Given the description of an element on the screen output the (x, y) to click on. 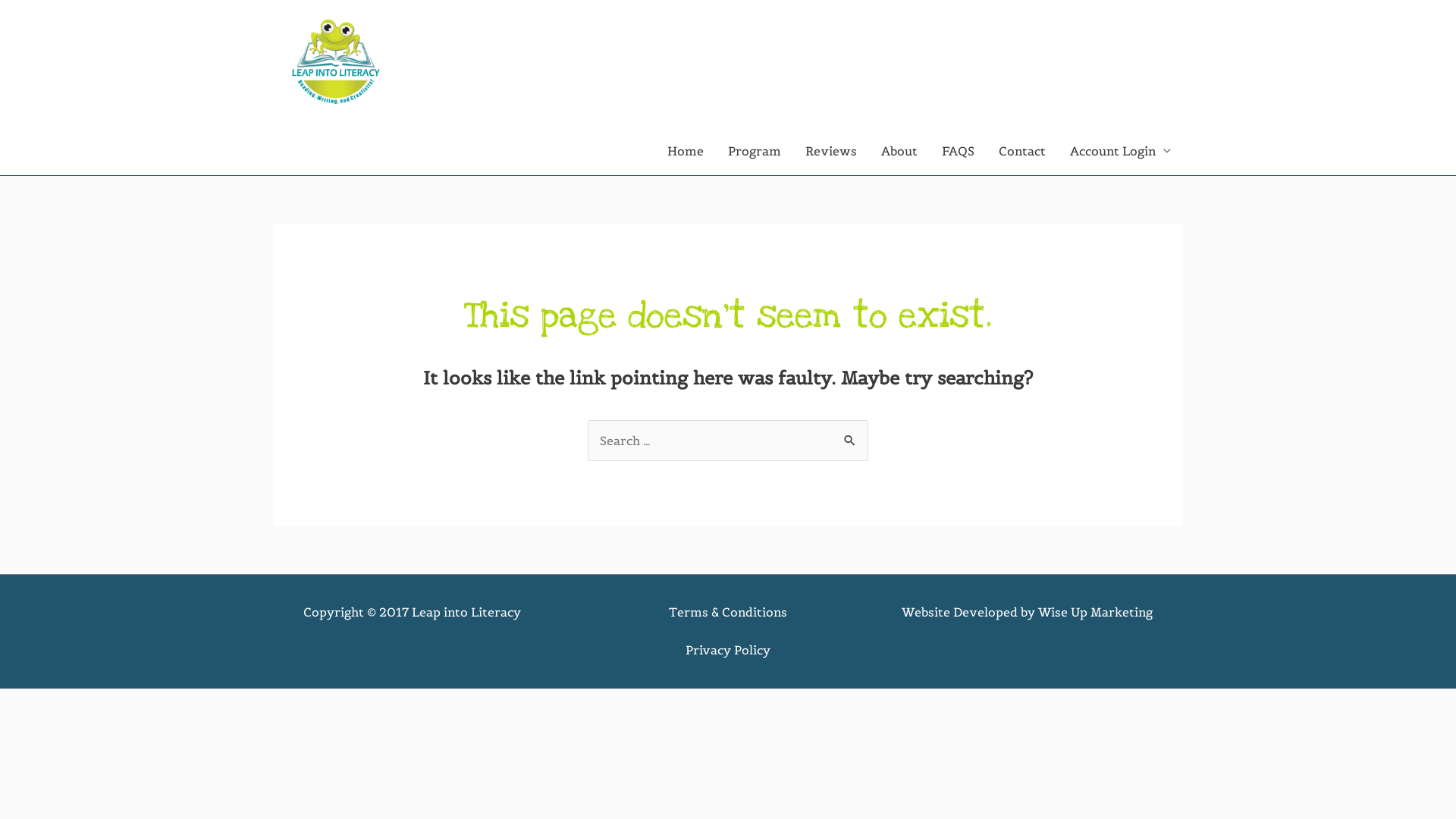
Privacy Policy Element type: text (727, 649)
Account Login Element type: text (1120, 150)
FAQS Element type: text (957, 150)
Program Element type: text (754, 150)
Contact Element type: text (1021, 150)
Search Element type: text (851, 435)
Home Element type: text (685, 150)
Reviews Element type: text (831, 150)
Wise Up Marketing Element type: text (1095, 611)
Terms & Conditions Element type: text (727, 611)
About Element type: text (899, 150)
